Given the description of an element on the screen output the (x, y) to click on. 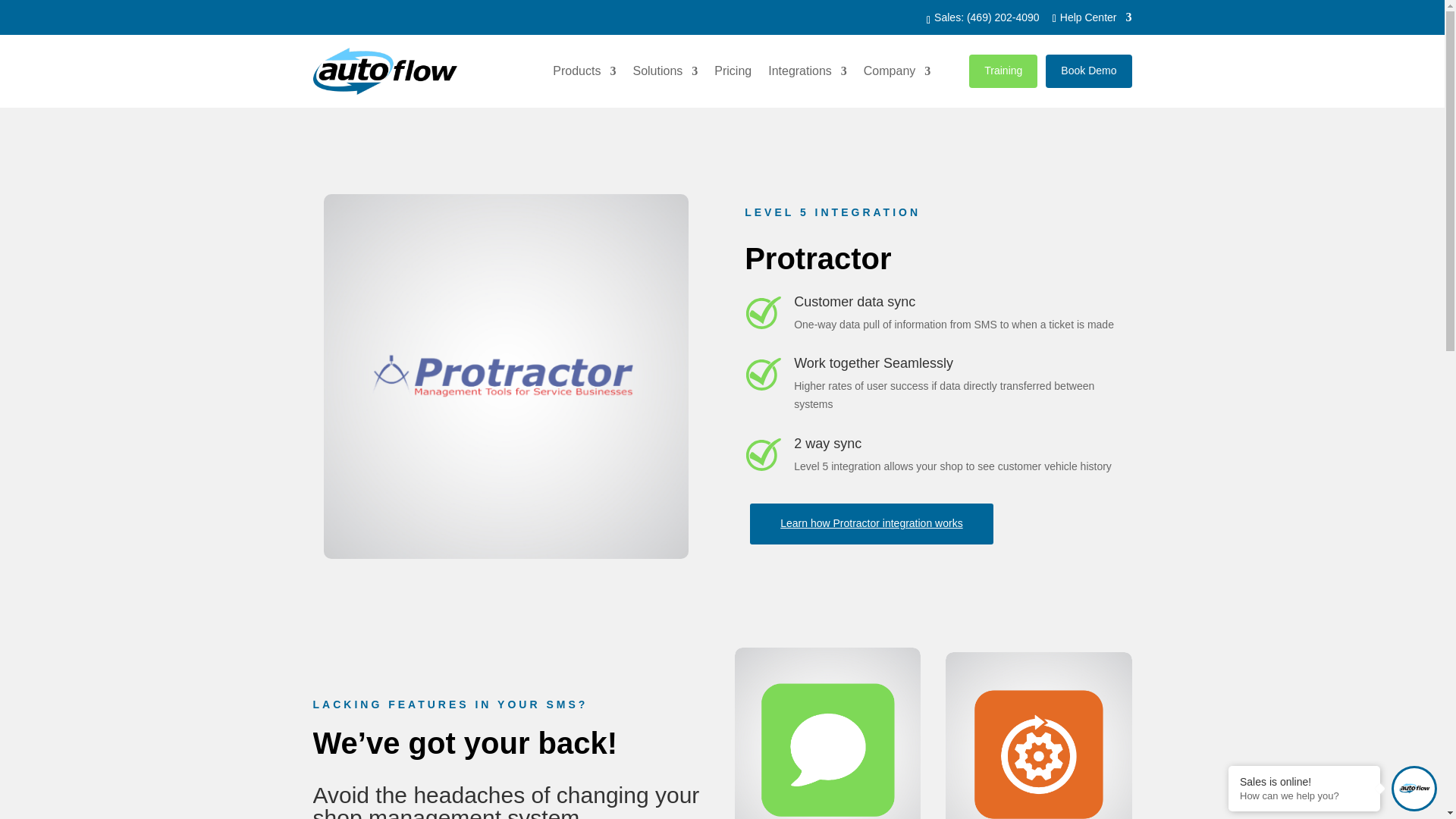
Sales is online! (1304, 781)
Solutions (664, 70)
Help Center (1094, 20)
How can we help you? (1304, 795)
Products (584, 70)
project-1 (505, 376)
